Given the description of an element on the screen output the (x, y) to click on. 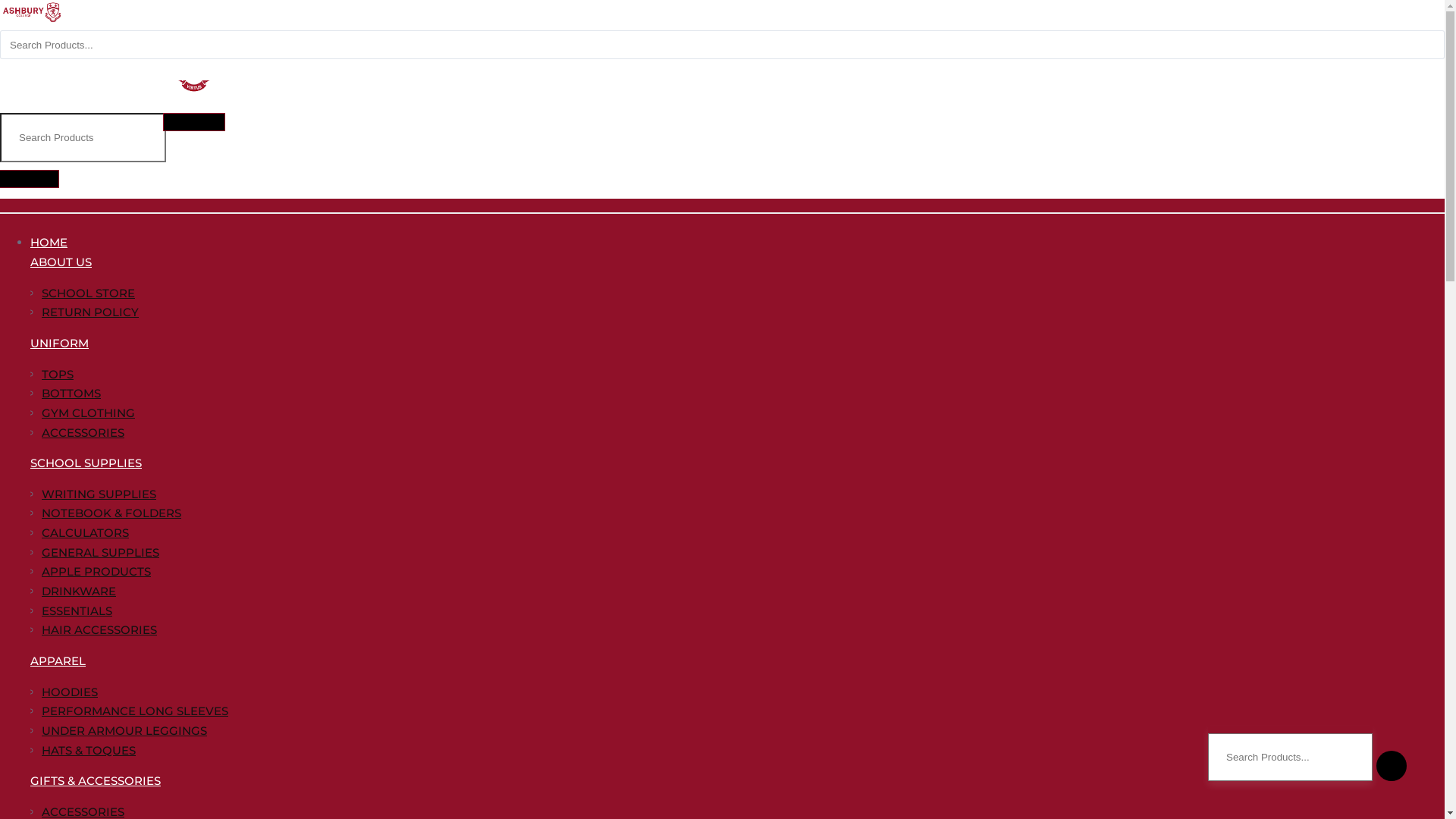
Your Basket Element type: hover (29, 174)
DRINKWARE Element type: text (78, 590)
HAIR ACCESSORIES Element type: text (98, 629)
CALCULATORS Element type: text (84, 532)
WRITING SUPPLIES Element type: text (98, 493)
GIFTS & ACCESSORIES Element type: text (101, 780)
SCHOOL STORE Element type: text (87, 292)
TOPS Element type: text (57, 374)
NOTEBOOK & FOLDERS Element type: text (111, 512)
HATS & TOQUES Element type: text (88, 750)
ABOUT US Element type: text (66, 261)
GENERAL SUPPLIES Element type: text (100, 552)
BOTTOMS Element type: text (70, 392)
SCHOOL SUPPLIES Element type: text (91, 462)
APPAREL Element type: text (63, 660)
ESSENTIALS Element type: text (76, 610)
GYM CLOTHING Element type: text (87, 412)
APPLE PRODUCTS Element type: text (95, 571)
HOODIES Element type: text (69, 691)
ACCESSORIES Element type: text (82, 432)
UNIFORM Element type: text (65, 342)
UNDER ARMOUR LEGGINGS Element type: text (124, 730)
PERFORMANCE LONG SLEEVES Element type: text (134, 710)
HOME Element type: text (54, 242)
RETURN POLICY Element type: text (89, 311)
